Given the description of an element on the screen output the (x, y) to click on. 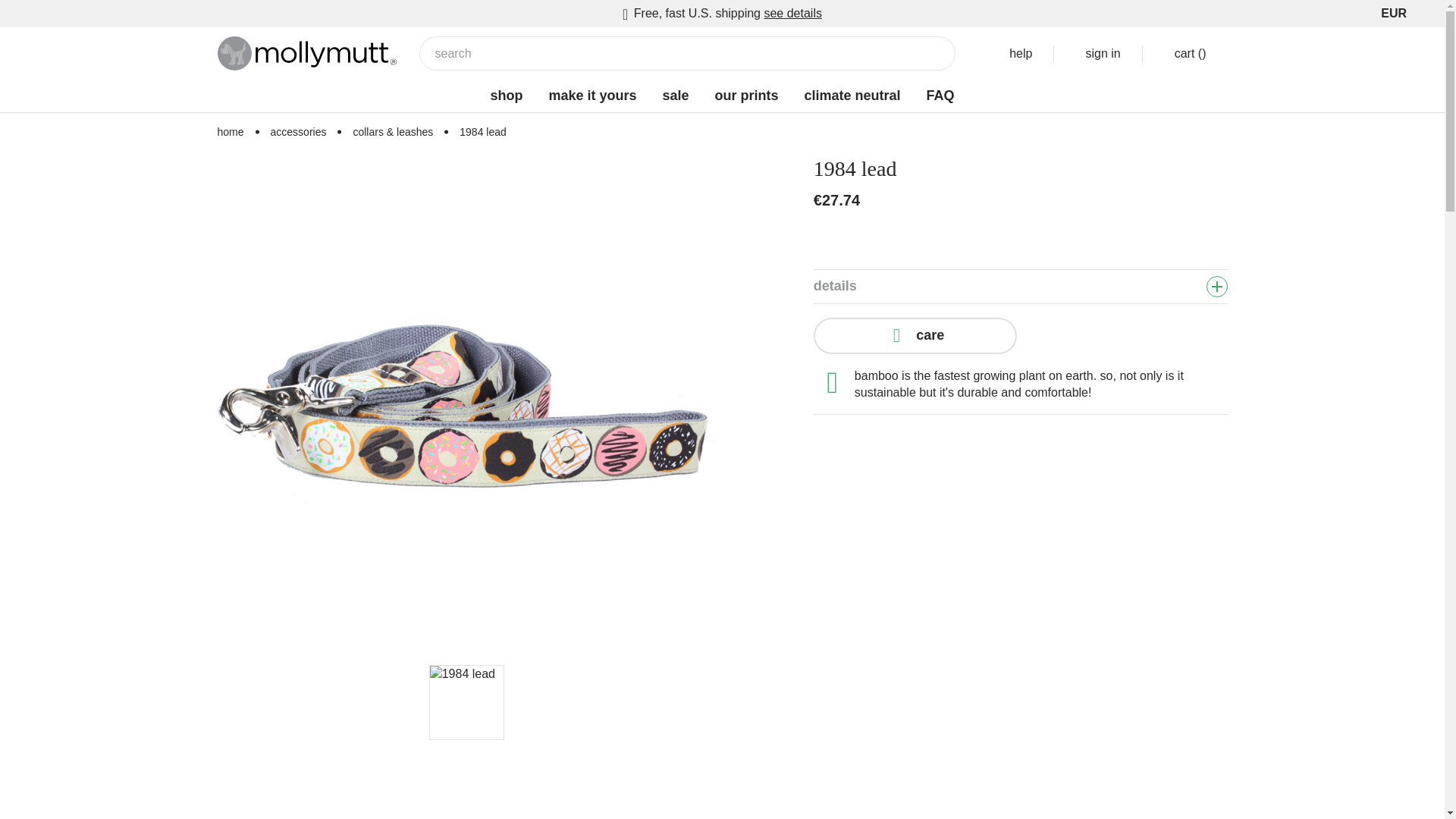
see details (792, 12)
EUR (1399, 12)
cart (1184, 53)
1984 lead (466, 702)
shop (505, 96)
